Given the description of an element on the screen output the (x, y) to click on. 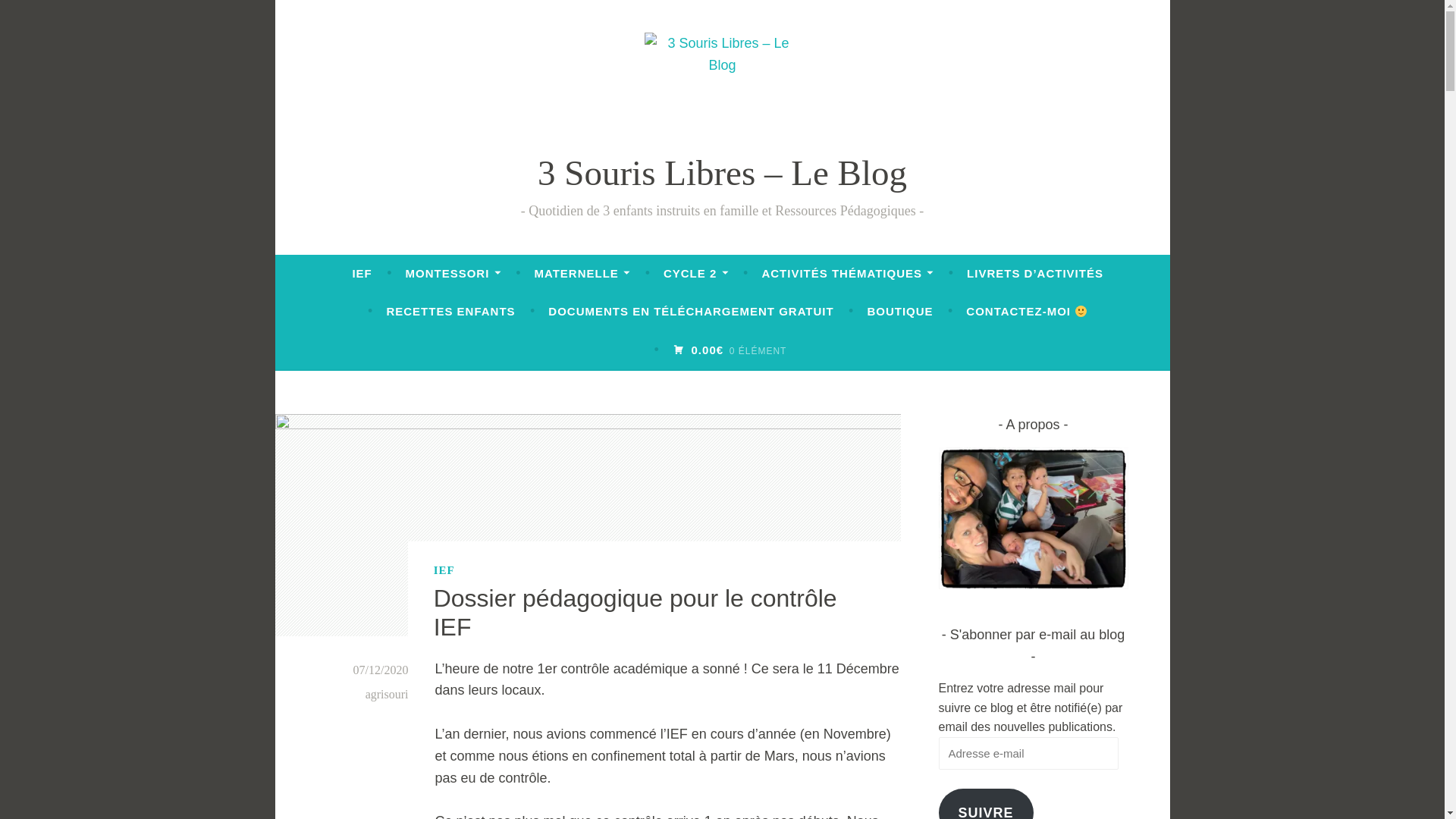
MONTESSORI Element type: text (452, 273)
IEF Element type: text (361, 273)
07/12/2020 Element type: text (380, 669)
CYCLE 2 Element type: text (695, 273)
MATERNELLE Element type: text (581, 273)
RECETTES ENFANTS Element type: text (449, 311)
BOUTIQUE Element type: text (899, 311)
IEF Element type: text (444, 570)
agrisouri Element type: text (386, 693)
CONTACTEZ-MOI Element type: text (1026, 311)
